Given the description of an element on the screen output the (x, y) to click on. 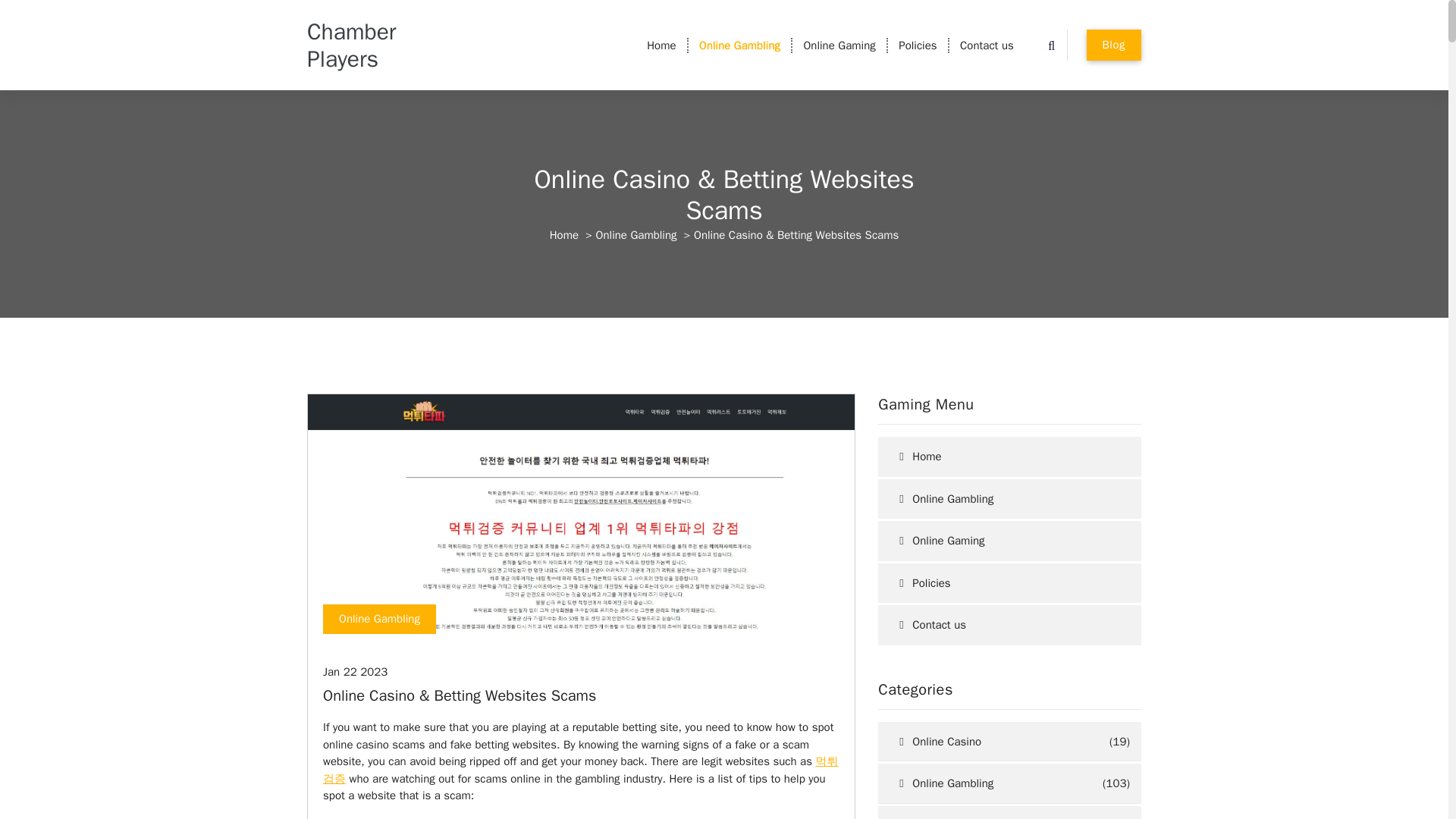
Contact us (986, 45)
Policies (917, 45)
Online Gambling (1009, 499)
Online Gaming (996, 812)
Online Gaming (838, 45)
Policies (1009, 583)
Online Gaming (838, 45)
Online Casino (993, 741)
Contact us (986, 45)
Online Gambling (739, 45)
Policies (917, 45)
Online Gambling (636, 234)
Blog (1113, 44)
Online Gambling (989, 783)
Online Gambling (379, 619)
